Given the description of an element on the screen output the (x, y) to click on. 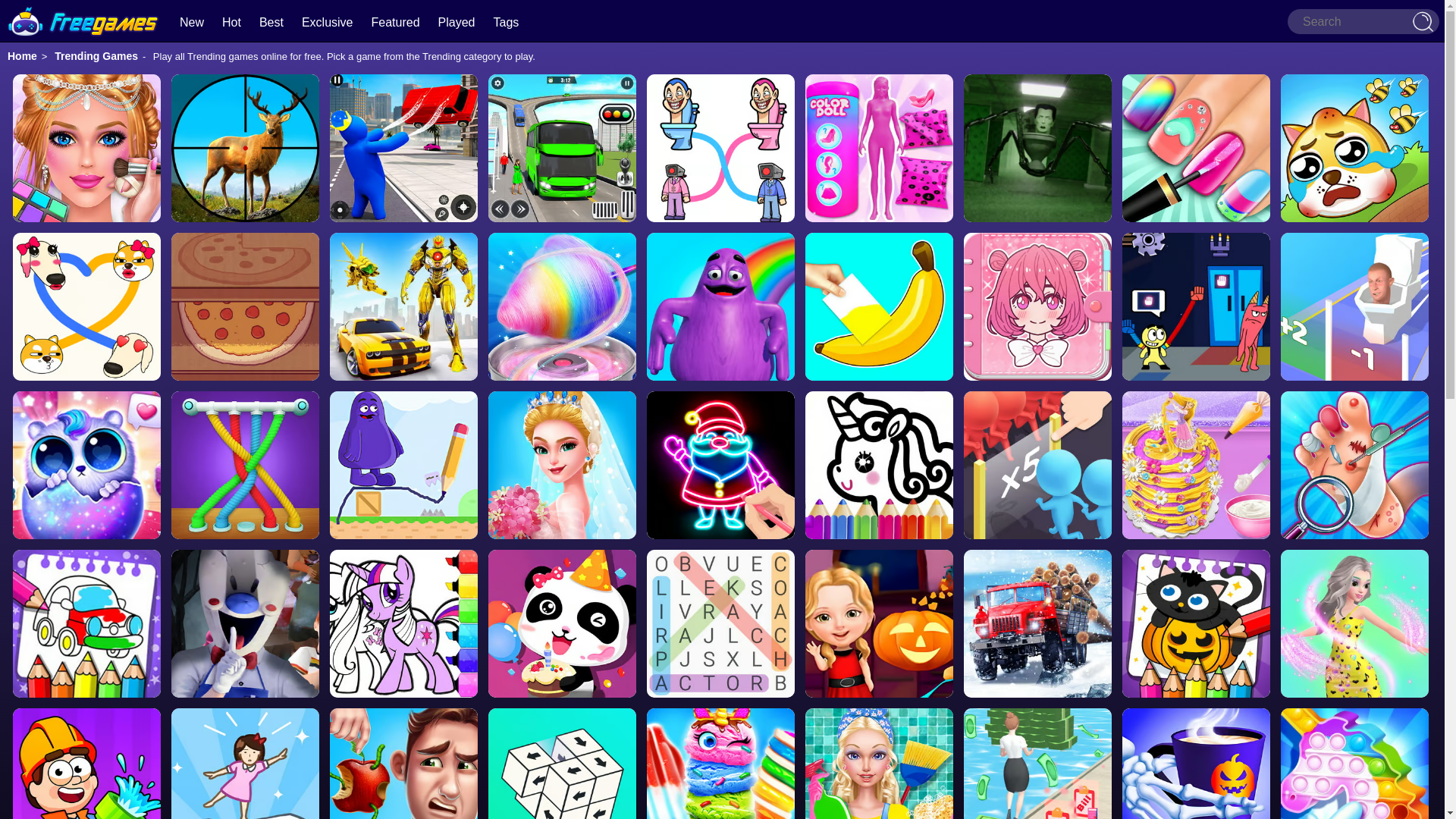
New (191, 21)
Featured (395, 21)
Best (271, 21)
Exclusive (327, 21)
Hot (231, 21)
Home (22, 55)
Tags (505, 21)
Played (457, 21)
